Given the description of an element on the screen output the (x, y) to click on. 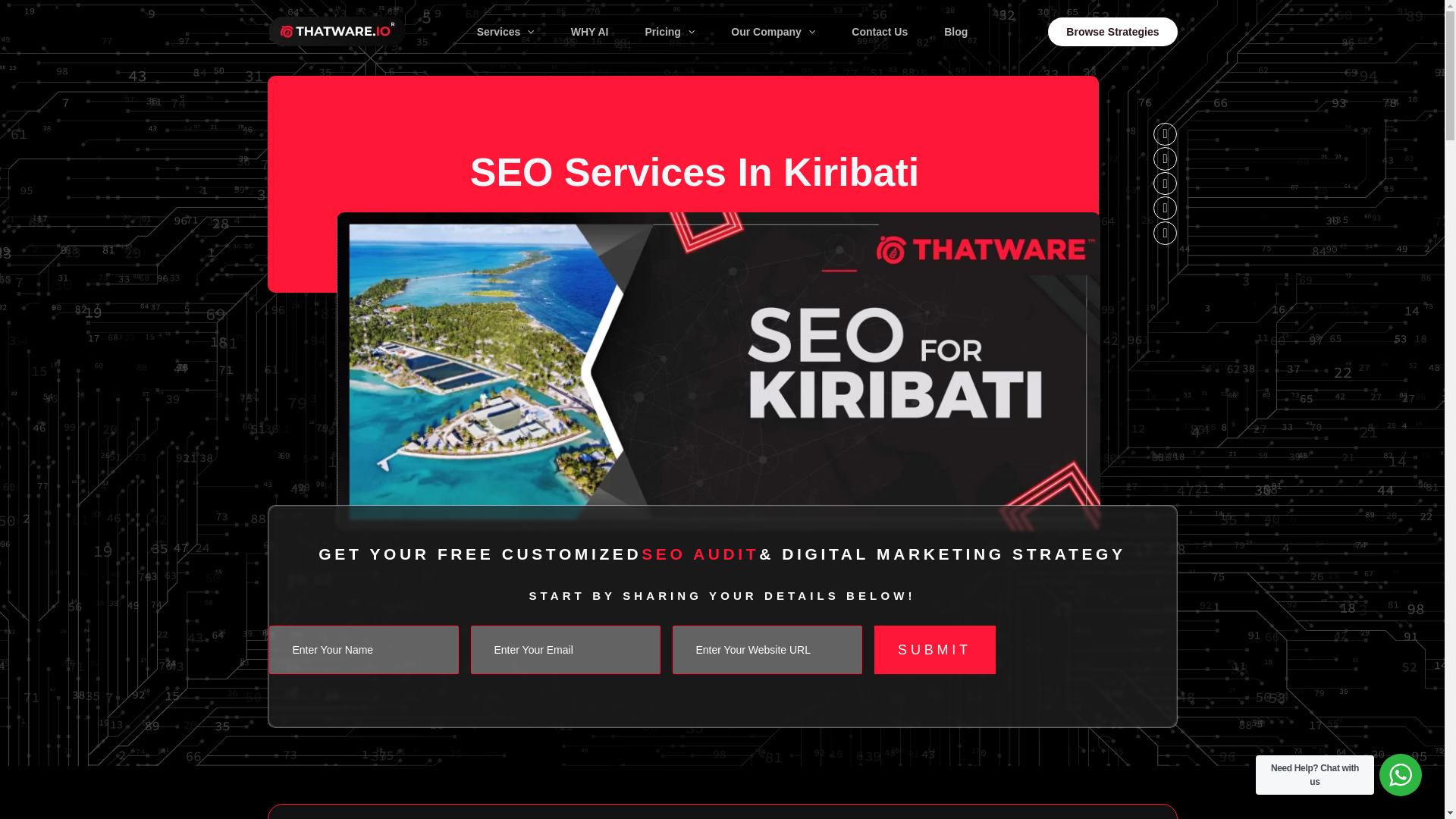
Blog (955, 30)
Contact Us (879, 30)
Browse Strategies (1112, 30)
Pricing (669, 30)
Our Company (772, 30)
Services (505, 30)
WHY AI (590, 30)
